Given the description of an element on the screen output the (x, y) to click on. 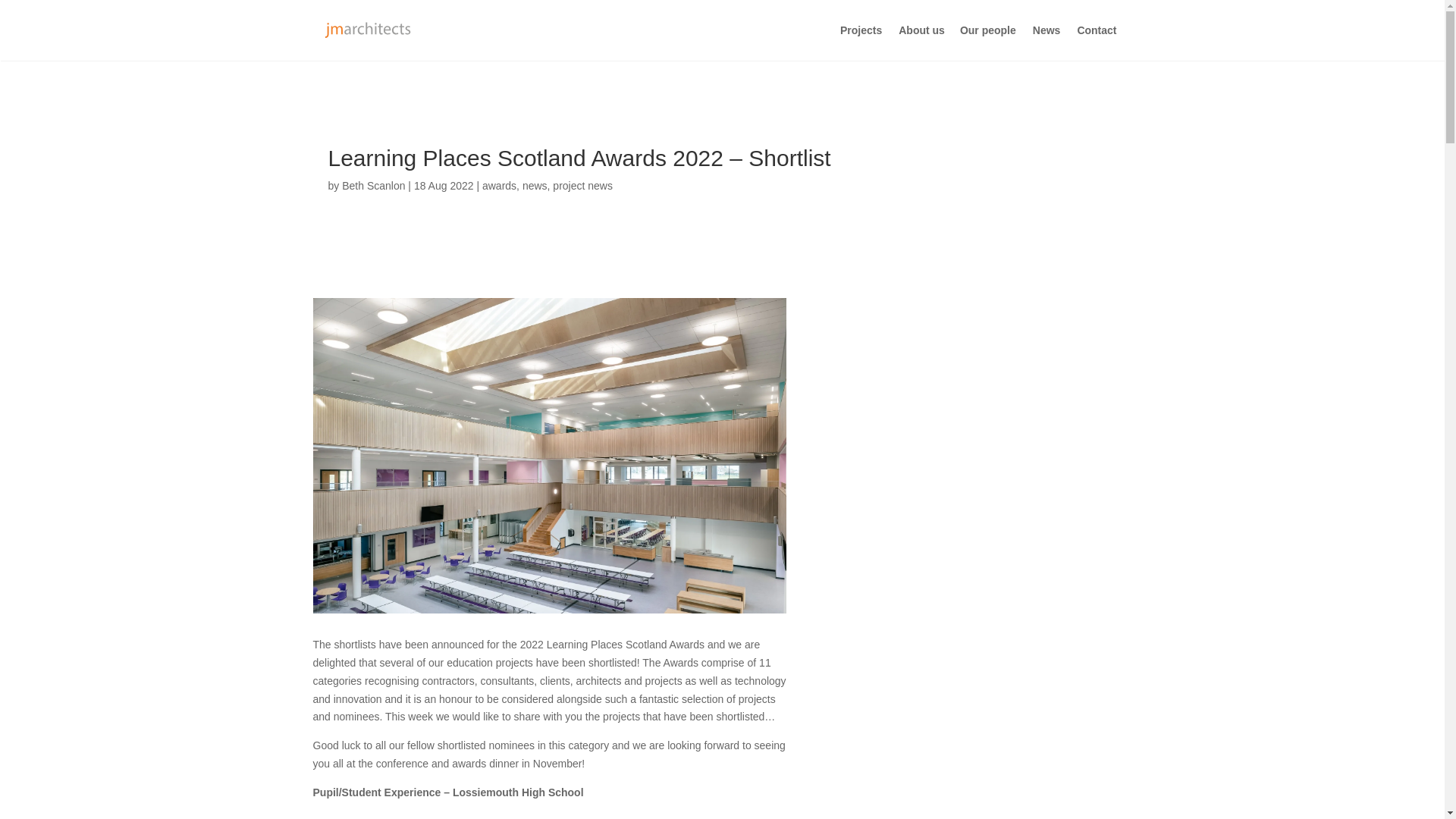
awards (498, 185)
About jm architects (928, 42)
Beth Scanlon (373, 185)
news (534, 185)
Contact (1104, 42)
About us (928, 42)
project news (582, 185)
Projects (861, 42)
Our people (987, 42)
Posts by Beth Scanlon (373, 185)
